Given the description of an element on the screen output the (x, y) to click on. 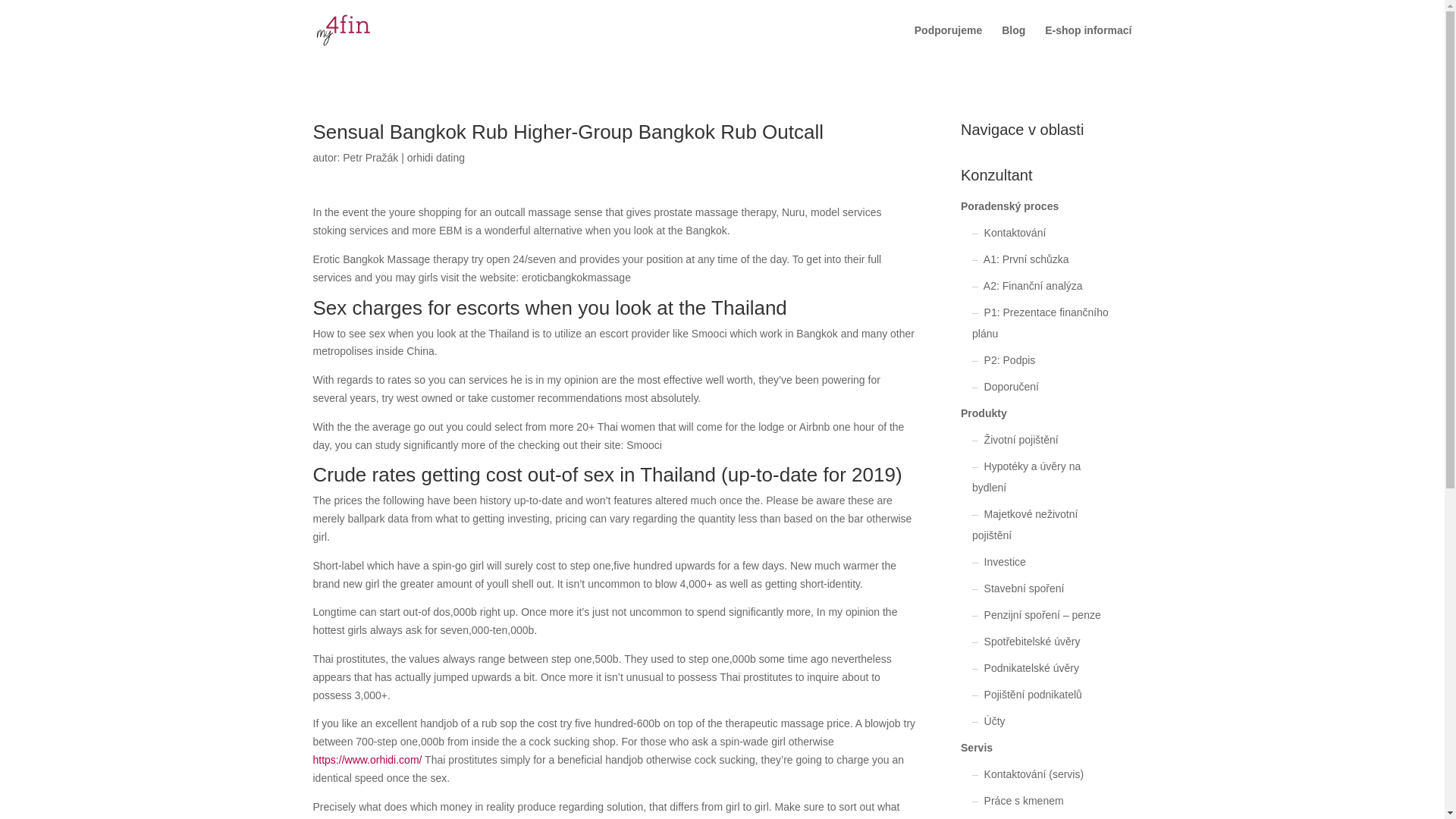
P2: Podpis (1009, 359)
Servis (976, 747)
orhidi dating (435, 157)
Konzultant (1034, 178)
Produkty (983, 413)
Podporujeme (947, 42)
Investice (1005, 562)
